Given the description of an element on the screen output the (x, y) to click on. 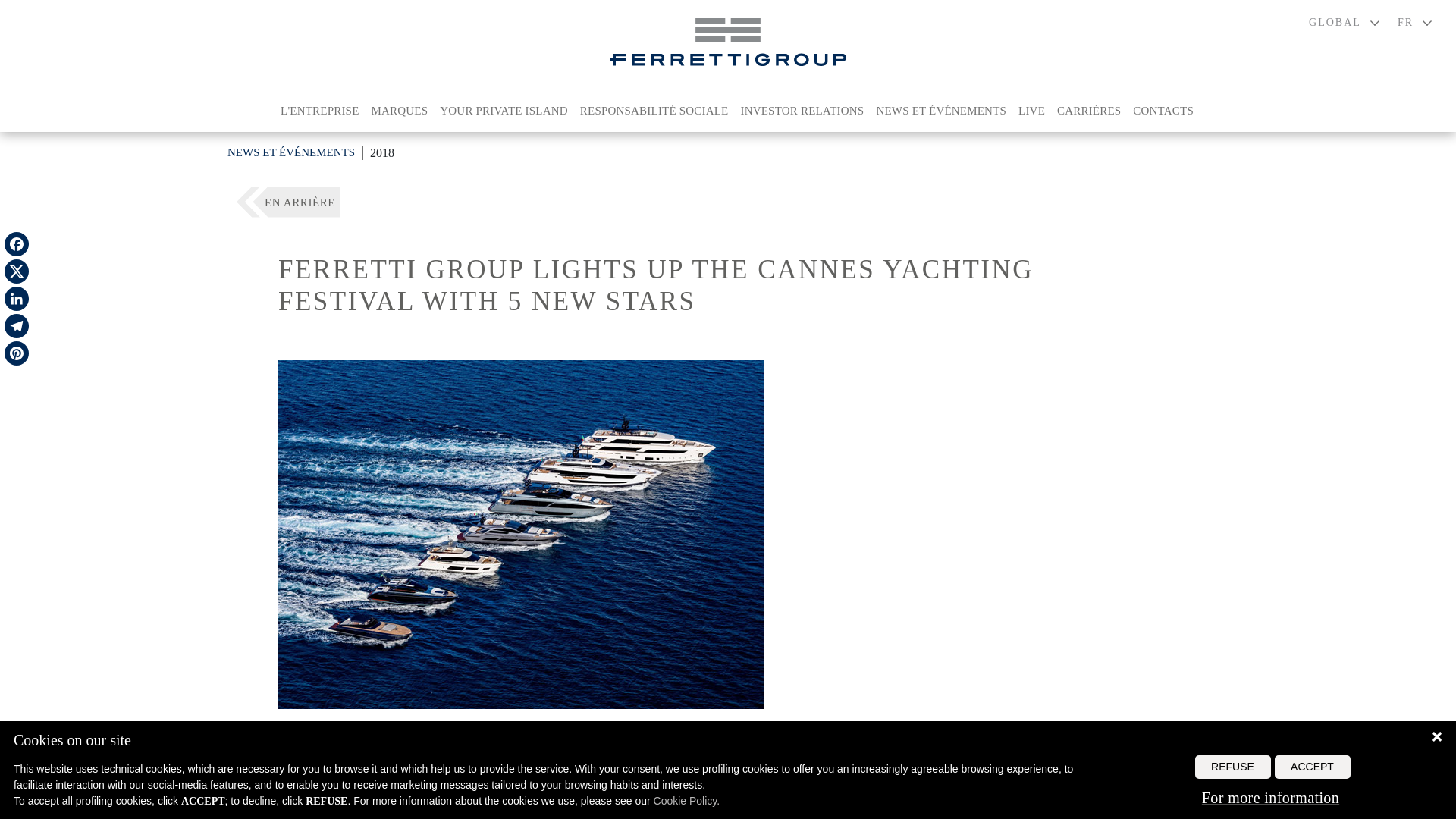
L'ENTREPRISE (320, 111)
GLOBAL (1343, 22)
FR (1414, 22)
